Given the description of an element on the screen output the (x, y) to click on. 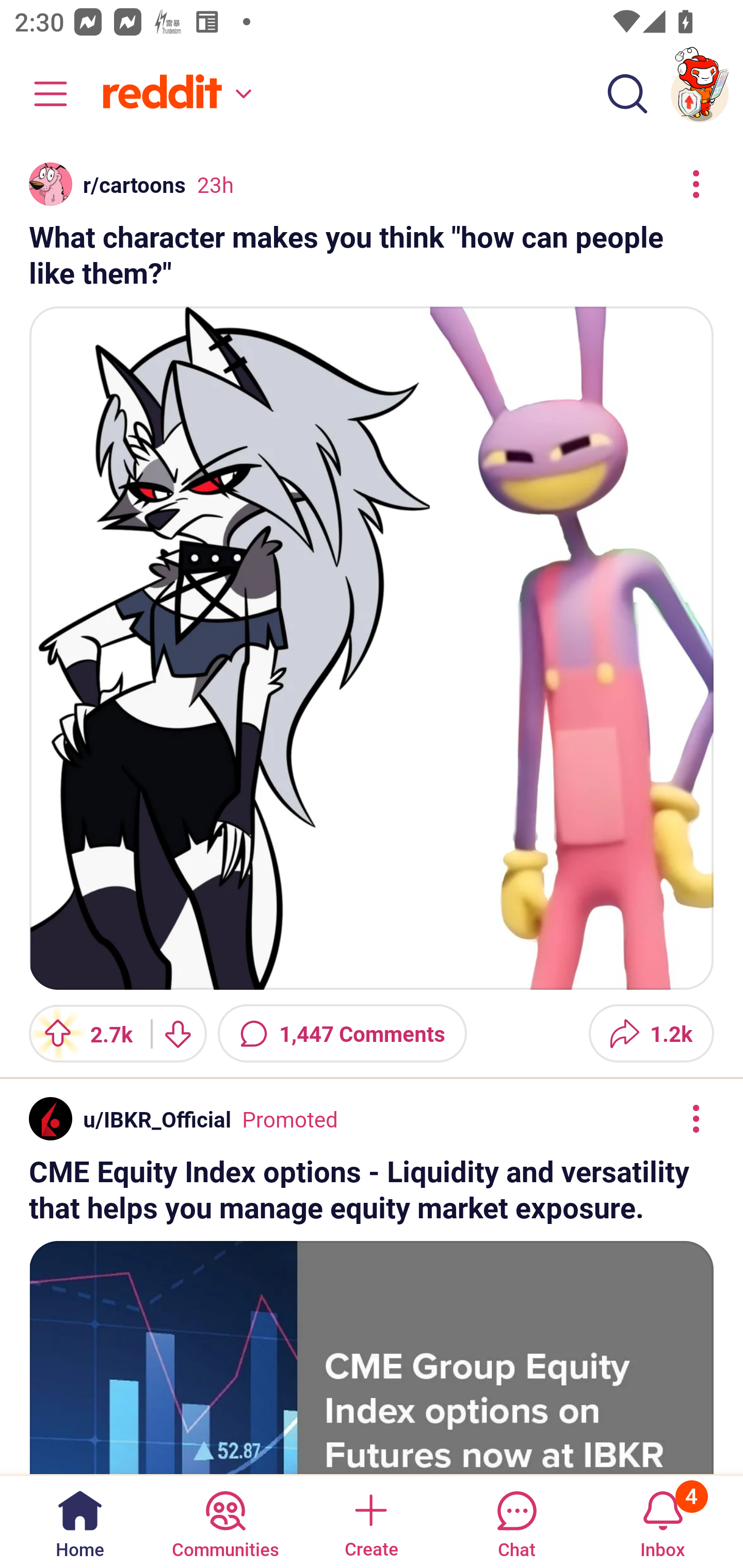
Search (626, 93)
TestAppium002 account (699, 93)
Community menu (41, 94)
Home feed (173, 94)
Home (80, 1520)
Communities (225, 1520)
Create a post Create (370, 1520)
Chat (516, 1520)
Inbox, has 4 notifications 4 Inbox (662, 1520)
